Given the description of an element on the screen output the (x, y) to click on. 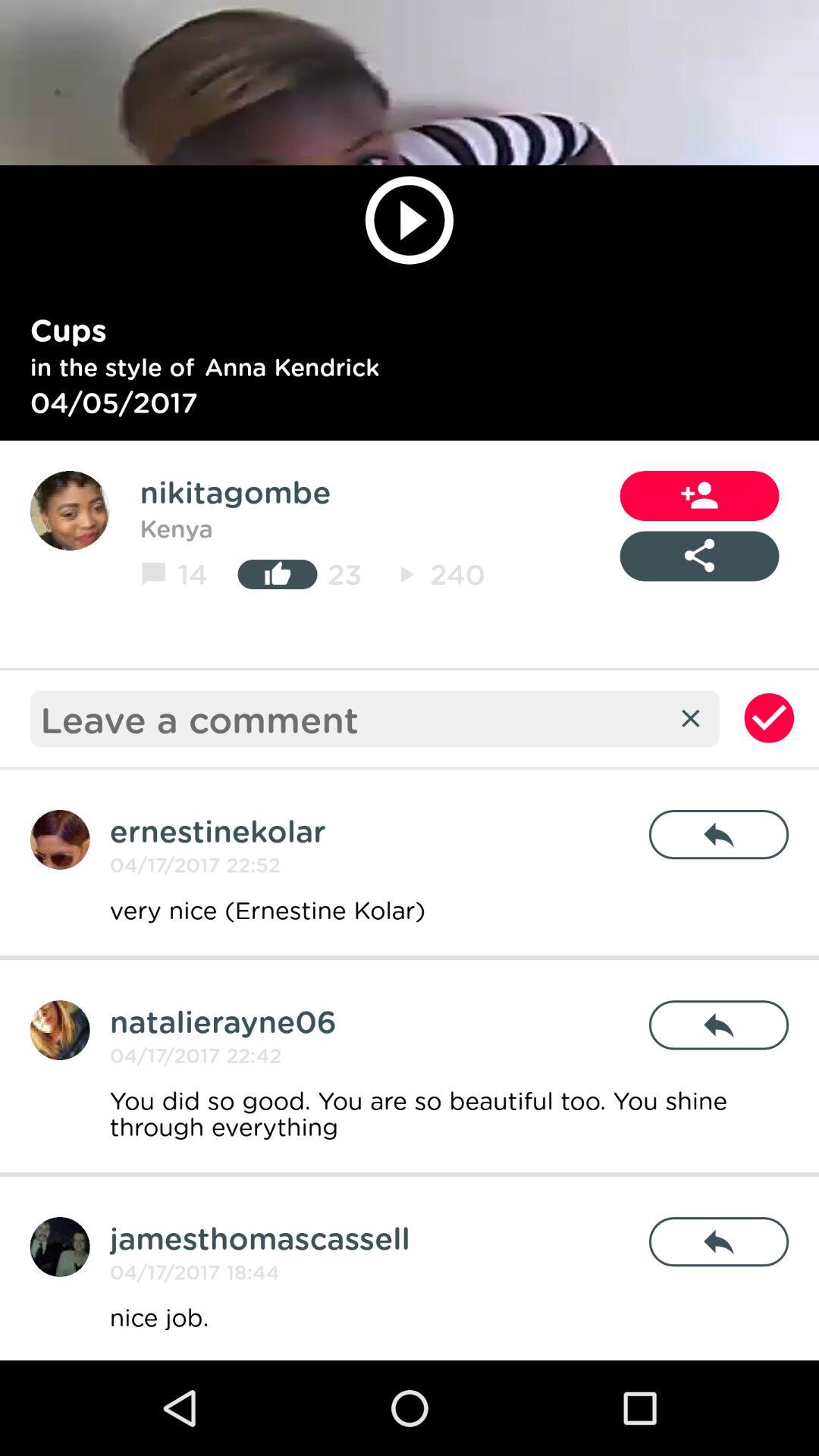
to leave a comment bar (352, 718)
